Given the description of an element on the screen output the (x, y) to click on. 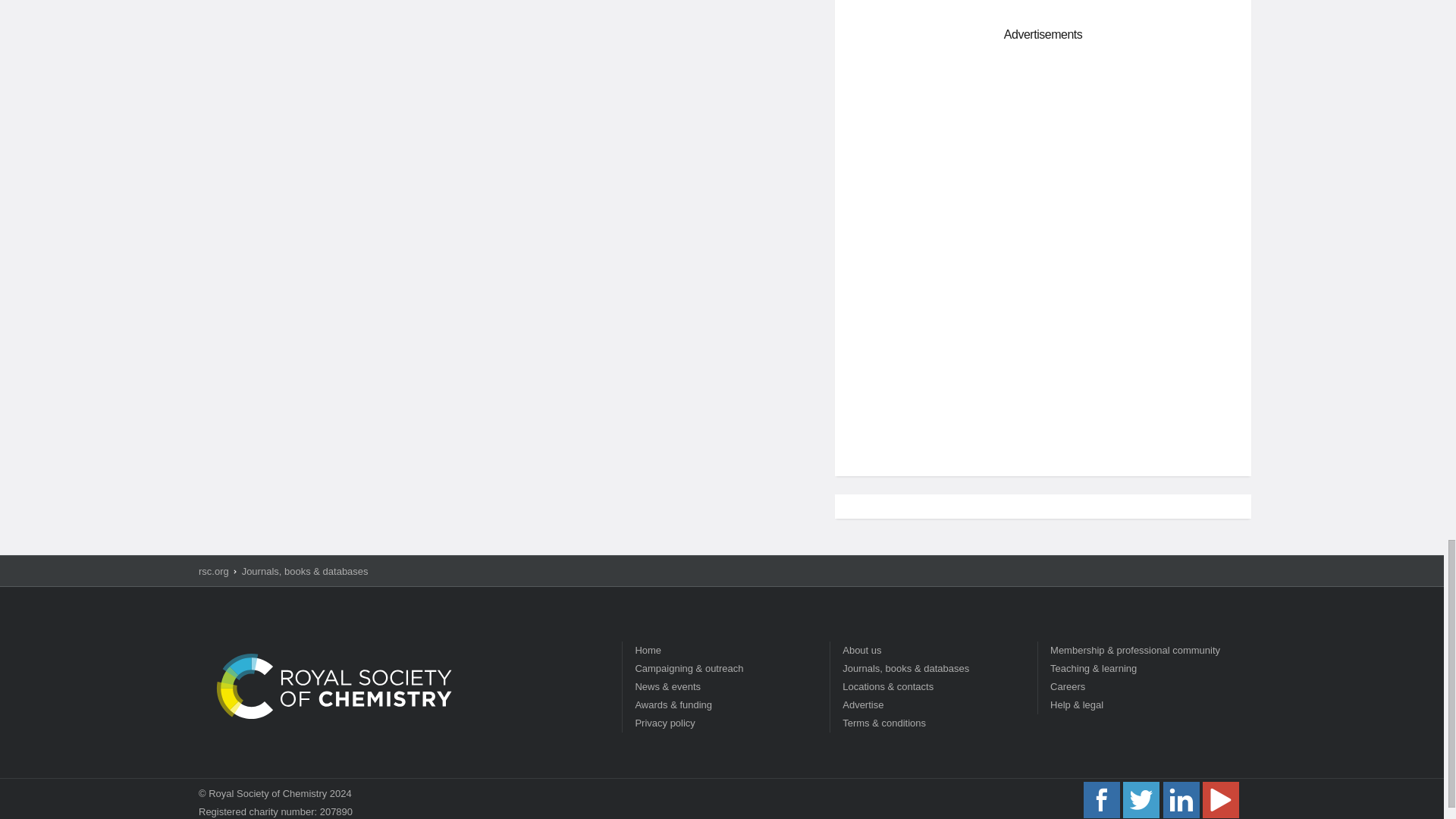
3rd party ad content (1043, 155)
3rd party ad content (1043, 1)
3rd party ad content (1043, 357)
